Given the description of an element on the screen output the (x, y) to click on. 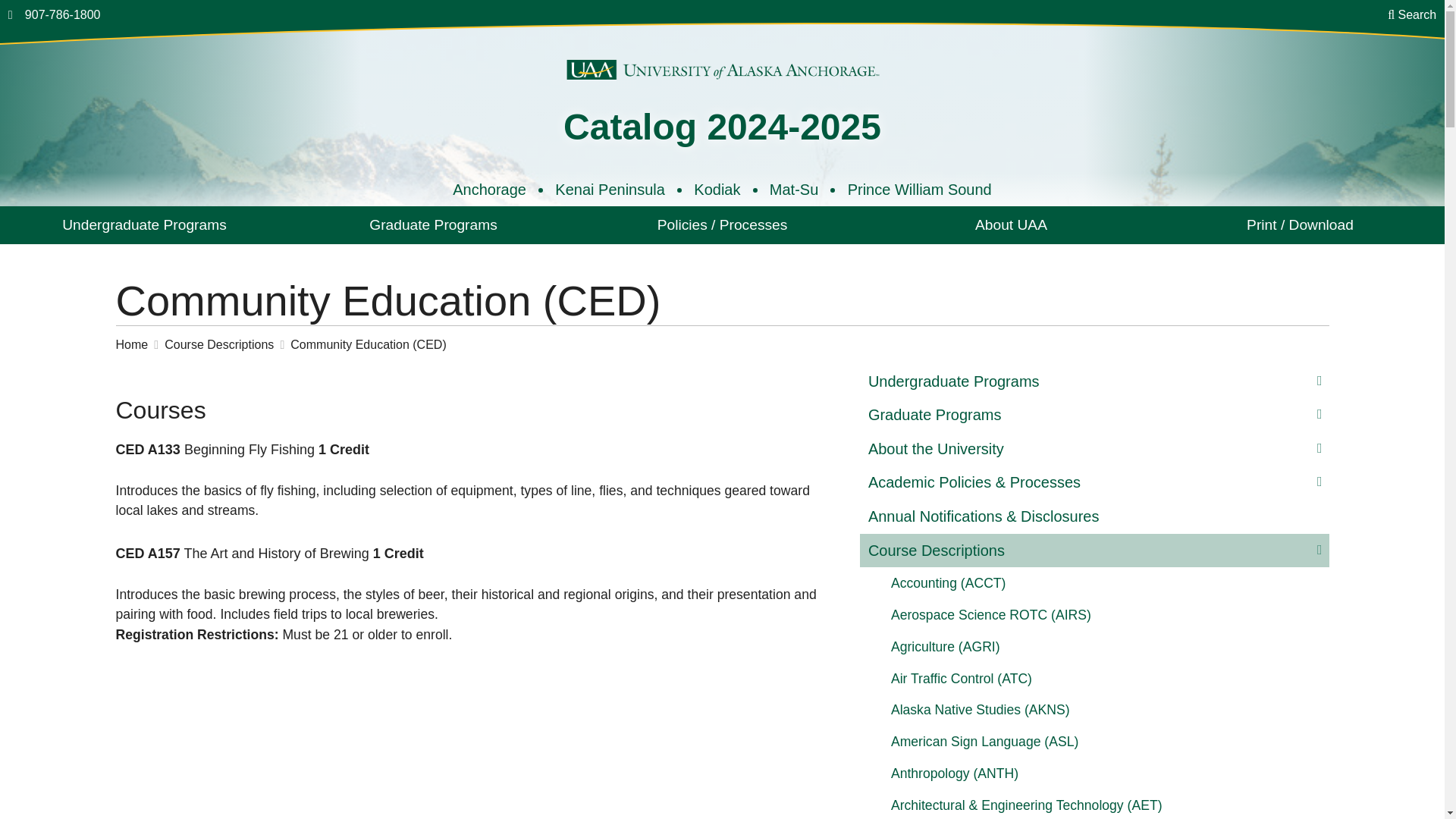
Undergraduate Programs (144, 224)
Home (139, 345)
Graduate Programs (433, 224)
Course Descriptions (226, 345)
Kenai Peninsula (609, 189)
Anchorage (488, 189)
Kodiak (716, 189)
About UAA (1011, 224)
907-786-1800 (62, 14)
Search (1411, 15)
